Given the description of an element on the screen output the (x, y) to click on. 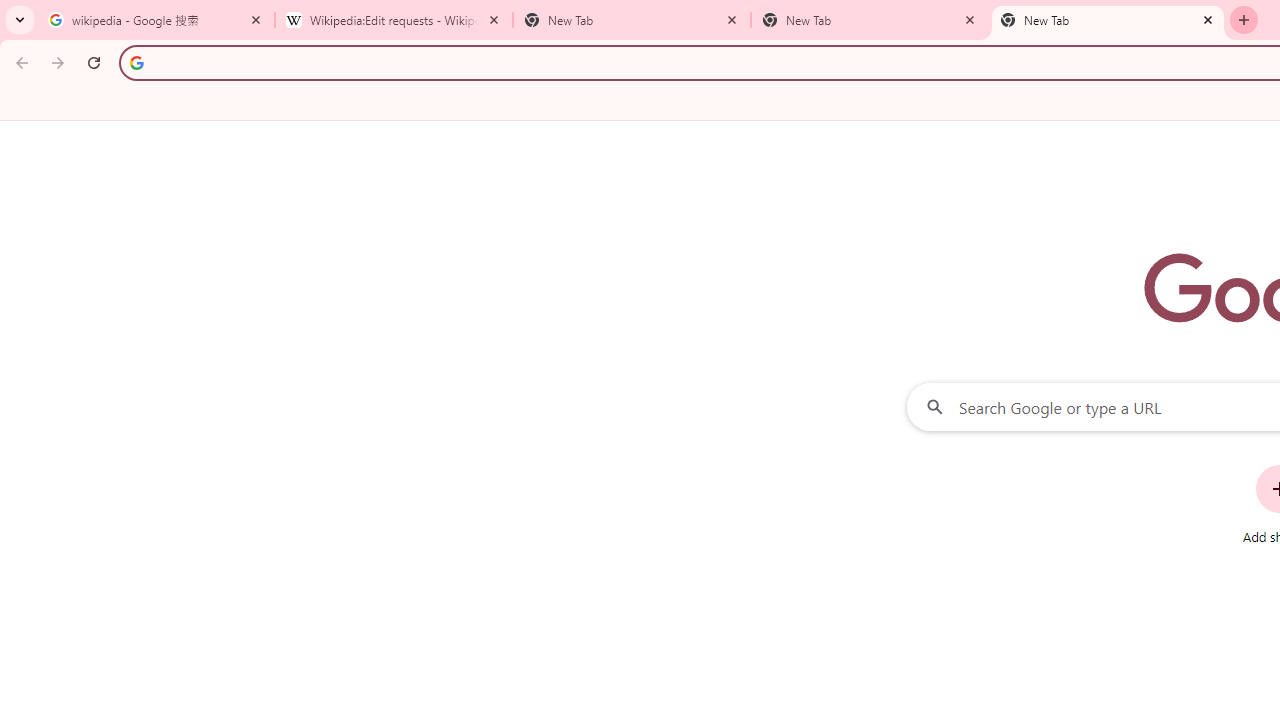
Wikipedia:Edit requests - Wikipedia (394, 20)
New Tab (870, 20)
New Tab (1108, 20)
New Tab (632, 20)
